Given the description of an element on the screen output the (x, y) to click on. 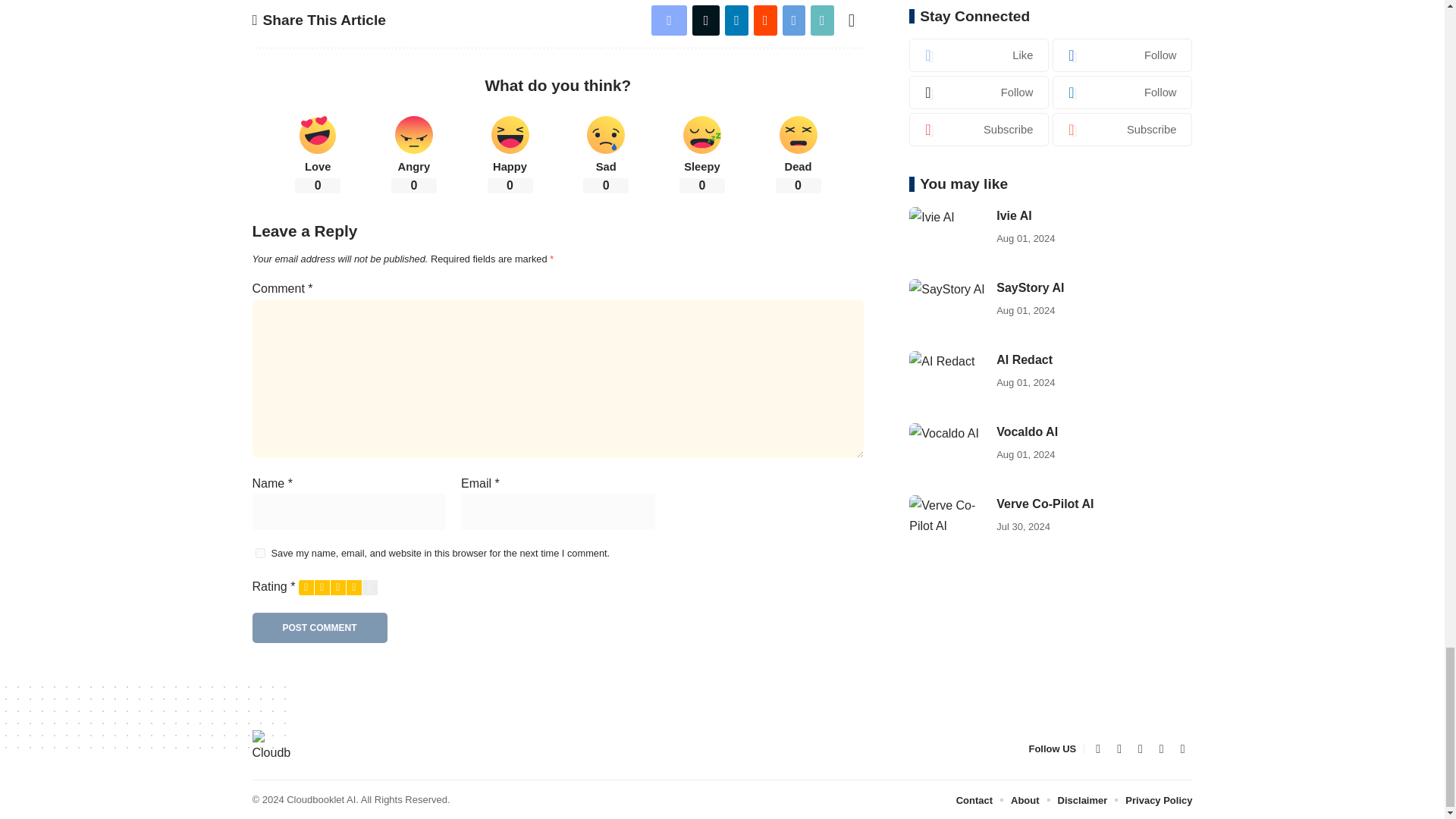
4 Stars (353, 587)
2 Stars (322, 587)
Post Comment (319, 627)
1 Star (306, 587)
yes (259, 552)
5 Stars (369, 587)
3 Stars (338, 587)
